Given the description of an element on the screen output the (x, y) to click on. 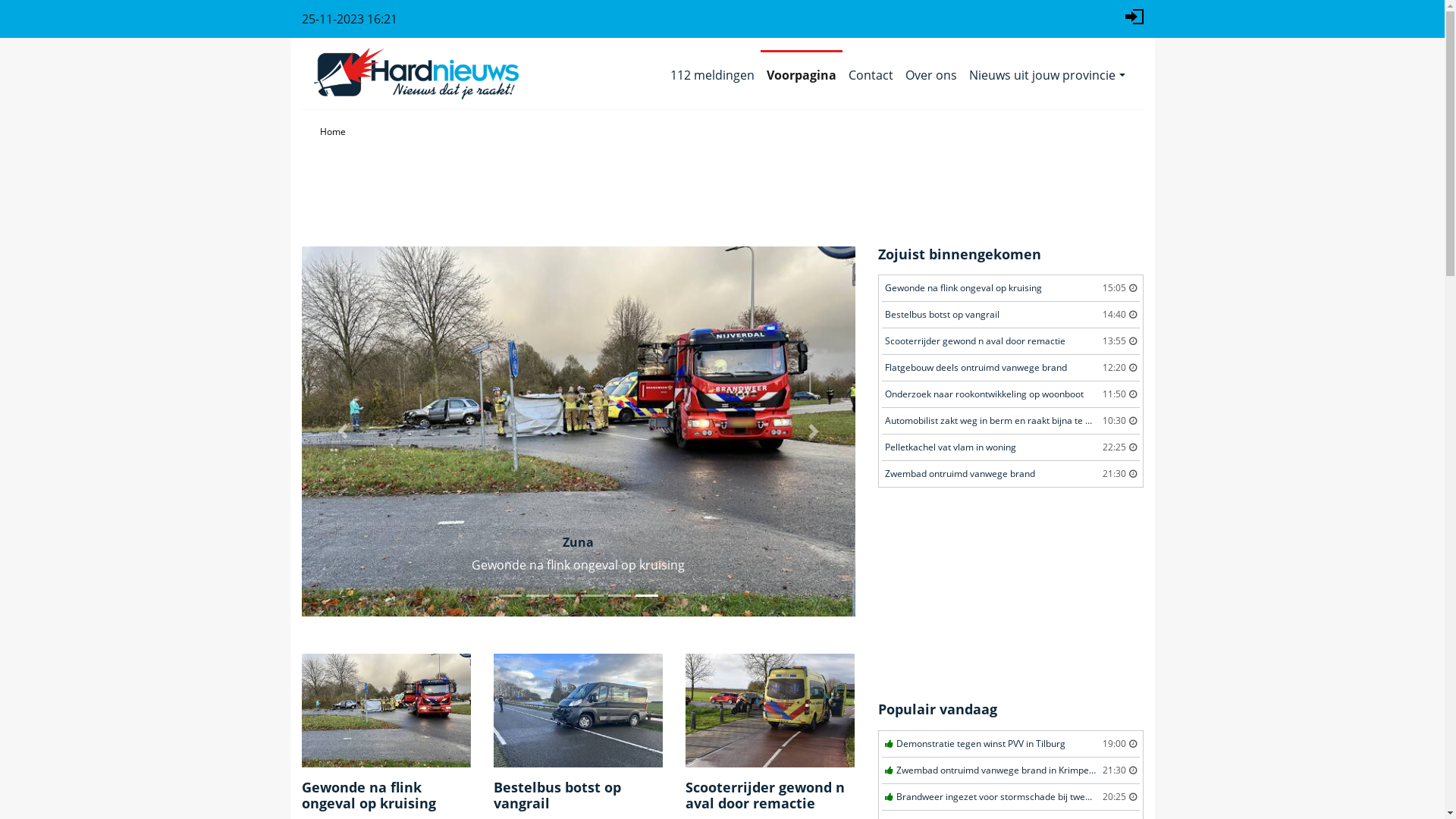
112 nieuws dat je raakt, Hardnieuws Element type: hover (415, 73)
Nieuws uit jouw provincie Element type: text (1046, 74)
Voorpagina Element type: text (801, 74)
Contact Element type: text (870, 74)
Zwembad ontruimd vanwege brand
21:30 Element type: text (1010, 473)
Demonstratie tegen winst PVV in Tilburg
19:00 Element type: text (1010, 744)
Bestelbus botst op vangrail Element type: hover (577, 708)
112 meldingen Element type: text (712, 74)
Gewonde na flink ongeval op kruising
15:05 Element type: text (1010, 288)
Scooterrijder gewond n aval door remactie Element type: hover (769, 708)
Volgende Element type: text (813, 431)
Gewonde na flink ongeval op kruising Element type: hover (385, 708)
Over ons Element type: text (931, 74)
Scooterrijder gewond n aval door remactie
13:55 Element type: text (1010, 341)
Automobilist zakt weg in berm en raakt bijna te water
10:30 Element type: text (1010, 420)
Bestelbus botst op vangrail
14:40 Element type: text (1010, 314)
Pelletkachel vat vlam in woning
22:25 Element type: text (1010, 447)
Flatgebouw deels ontruimd vanwege brand
12:20 Element type: text (1010, 367)
Onderzoek naar rookontwikkeling op woonboot
11:50 Element type: text (1010, 394)
Vorige Element type: text (343, 431)
Home Element type: text (332, 131)
